Given the description of an element on the screen output the (x, y) to click on. 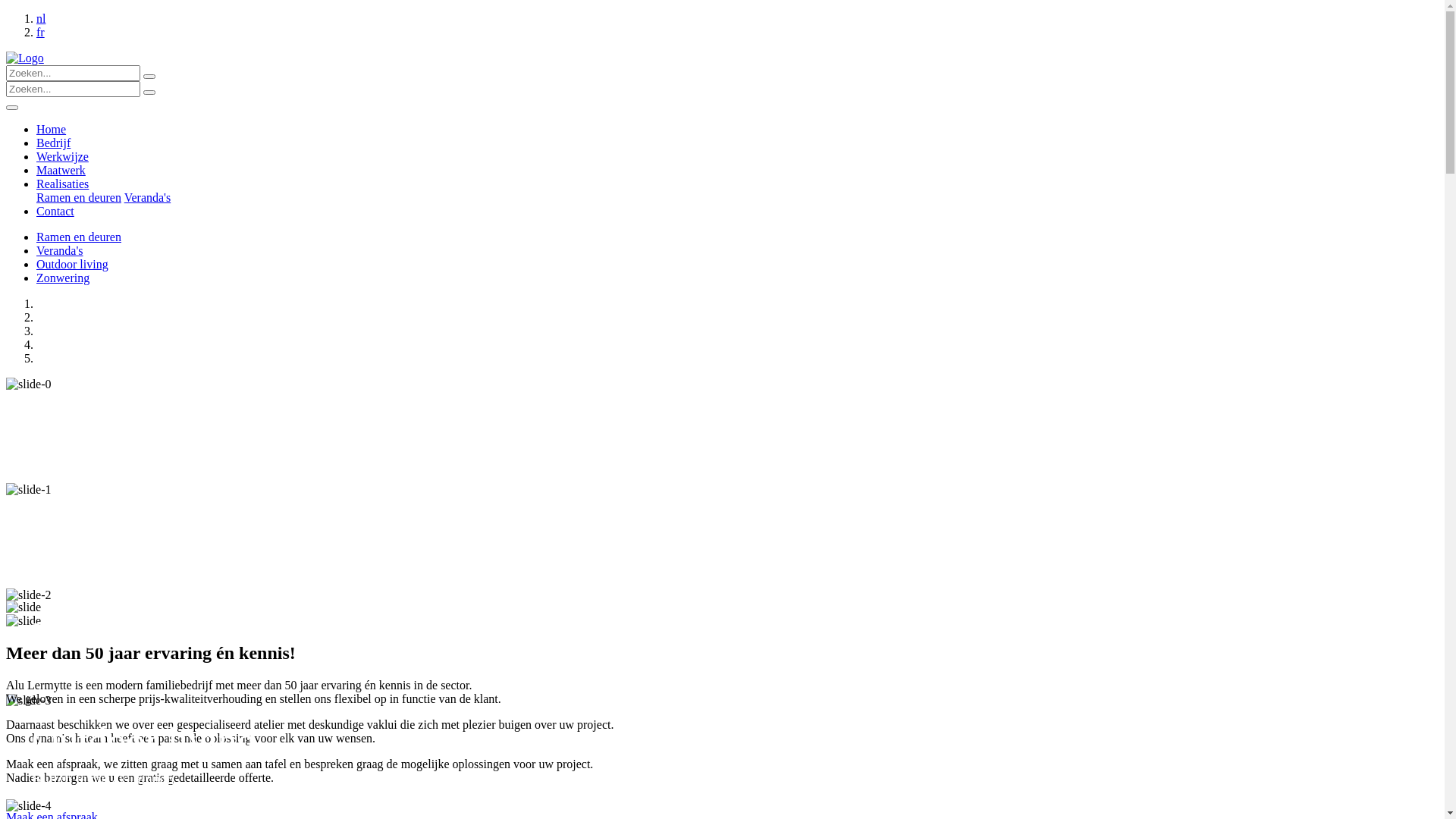
Ramen en deuren Element type: text (78, 197)
Veranda's Element type: text (104, 635)
Werkwijze Element type: text (62, 156)
Realisaties Element type: text (62, 183)
Ramen en deuren Element type: text (78, 236)
Bedrijf Element type: text (53, 142)
Maatwerk Element type: text (60, 169)
Ramen en deuren Element type: text (164, 529)
In alle stijlen en formaten Element type: text (109, 673)
fr Element type: text (40, 31)
Veranda's Element type: text (59, 250)
nl Element type: text (40, 18)
Contact Element type: text (55, 210)
Outdoor living Element type: text (143, 740)
Home Element type: text (50, 128)
Veranda's Element type: text (147, 197)
Outdoor living Element type: text (72, 263)
In PVC en aluminium Element type: text (98, 568)
Buiten leven als binnen Element type: text (102, 778)
Alu Lermytte Element type: text (134, 424)
Zonwering Element type: text (62, 277)
